Given the description of an element on the screen output the (x, y) to click on. 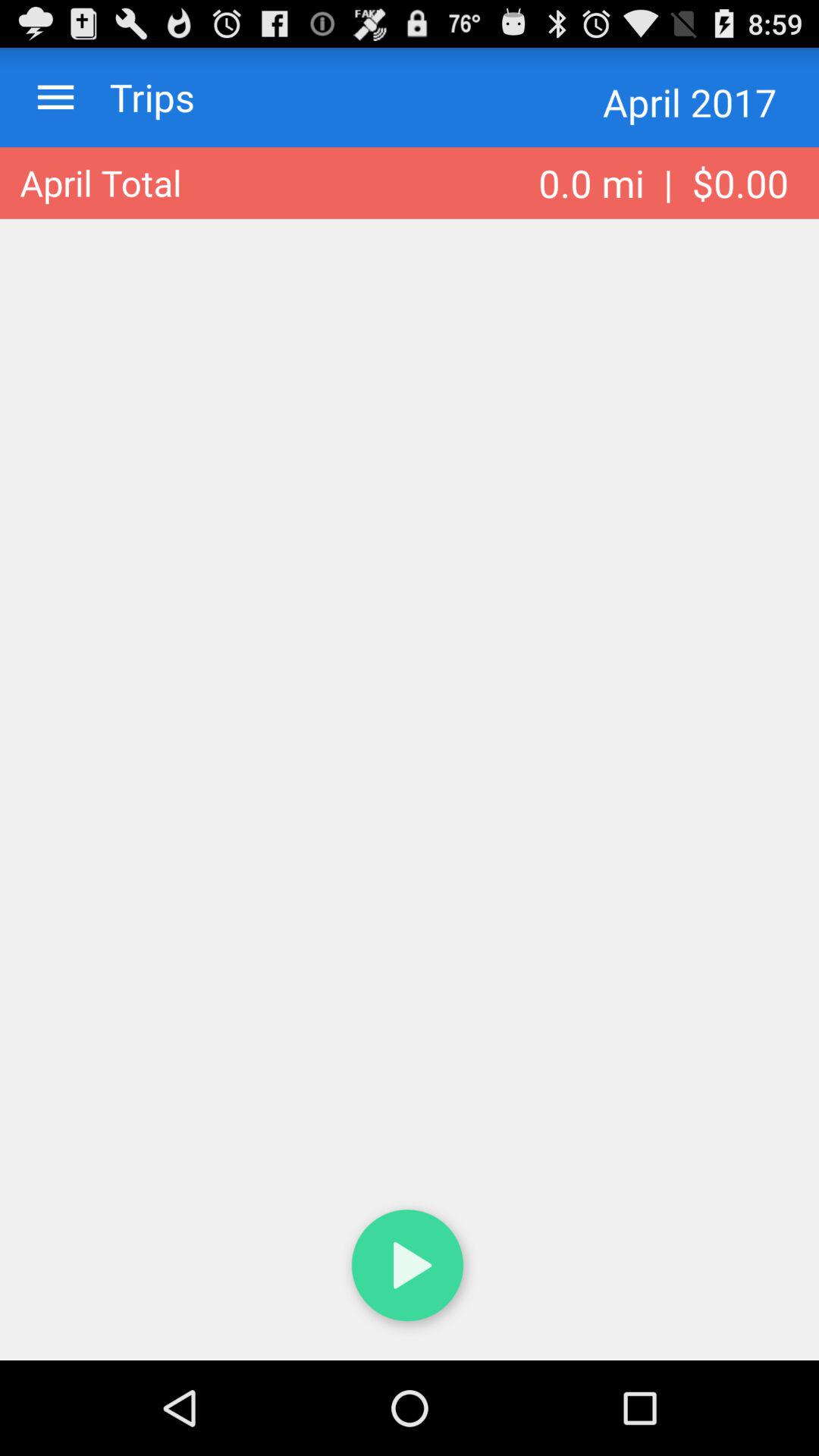
click the item below the trips item (100, 182)
